Given the description of an element on the screen output the (x, y) to click on. 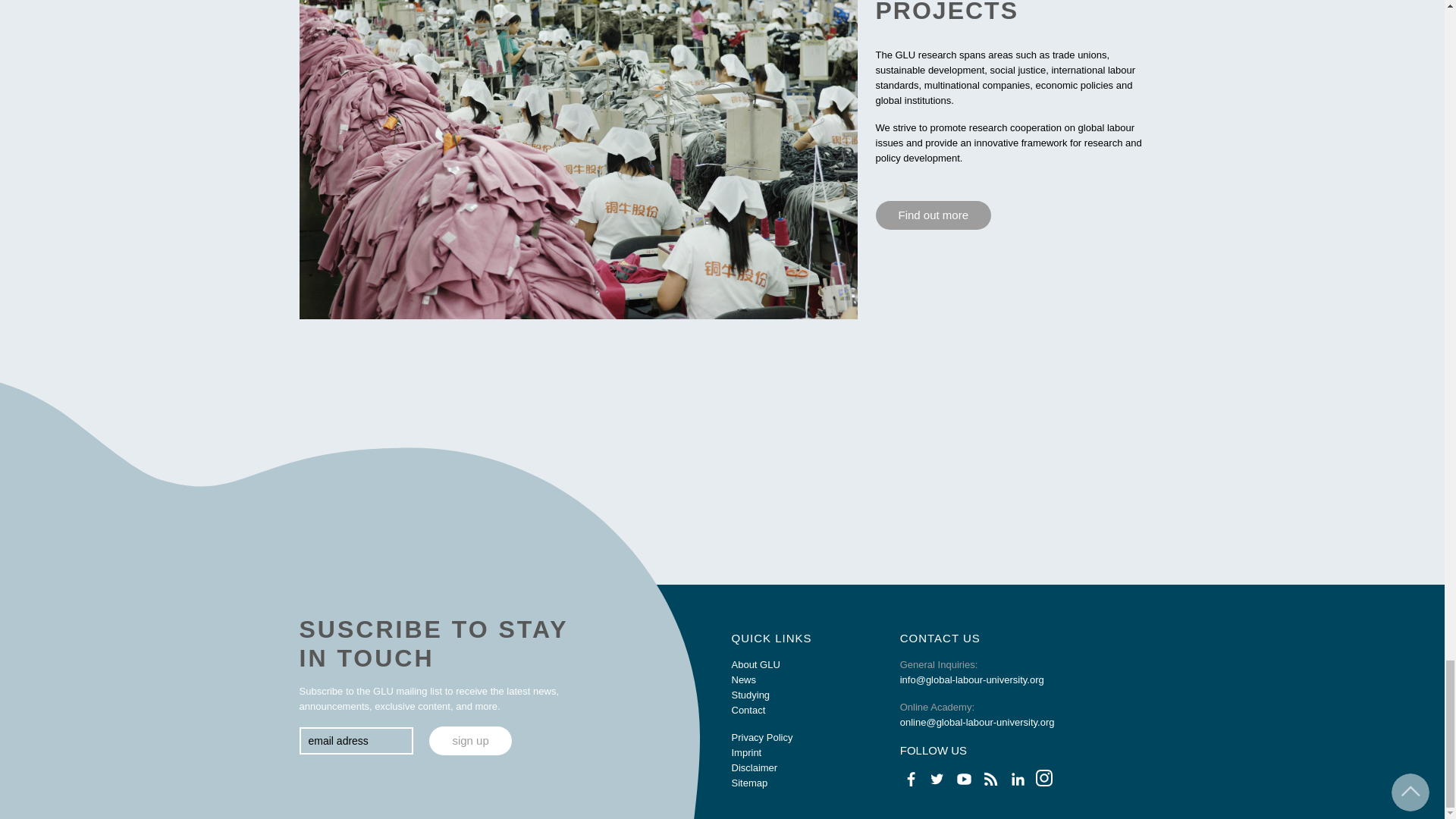
sign up (470, 740)
